Given the description of an element on the screen output the (x, y) to click on. 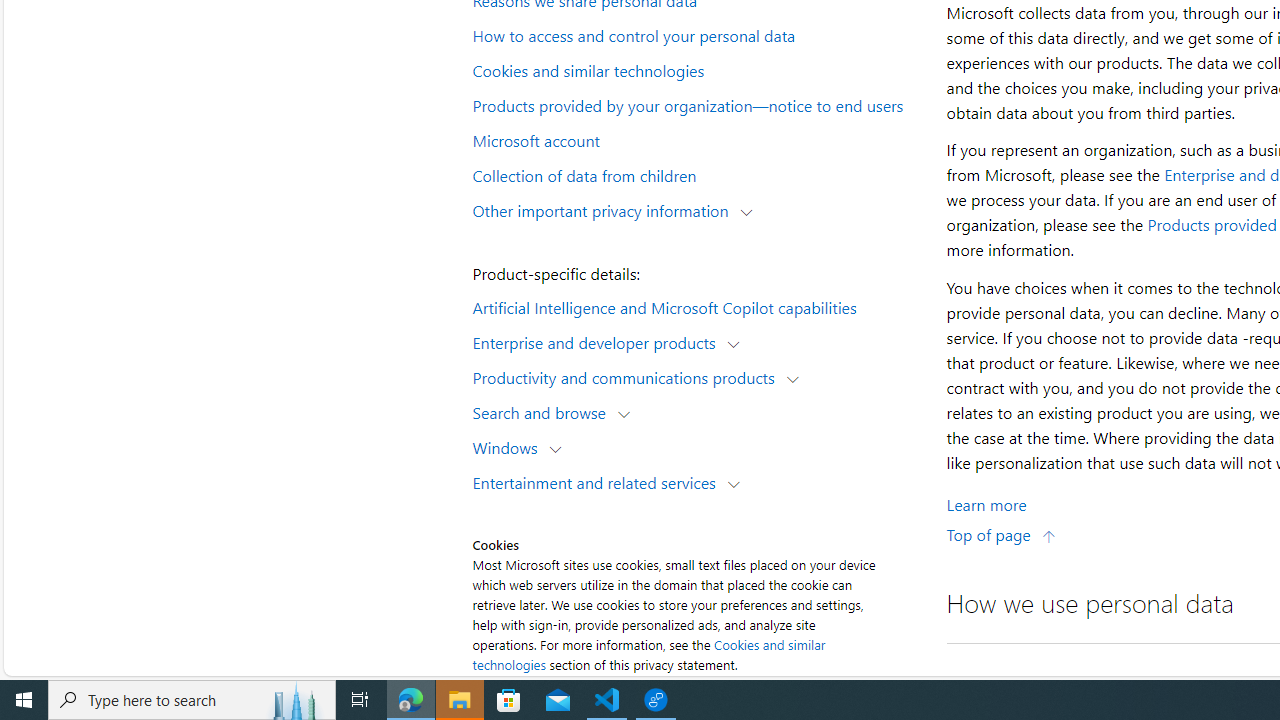
Search and browse (543, 412)
